Given the description of an element on the screen output the (x, y) to click on. 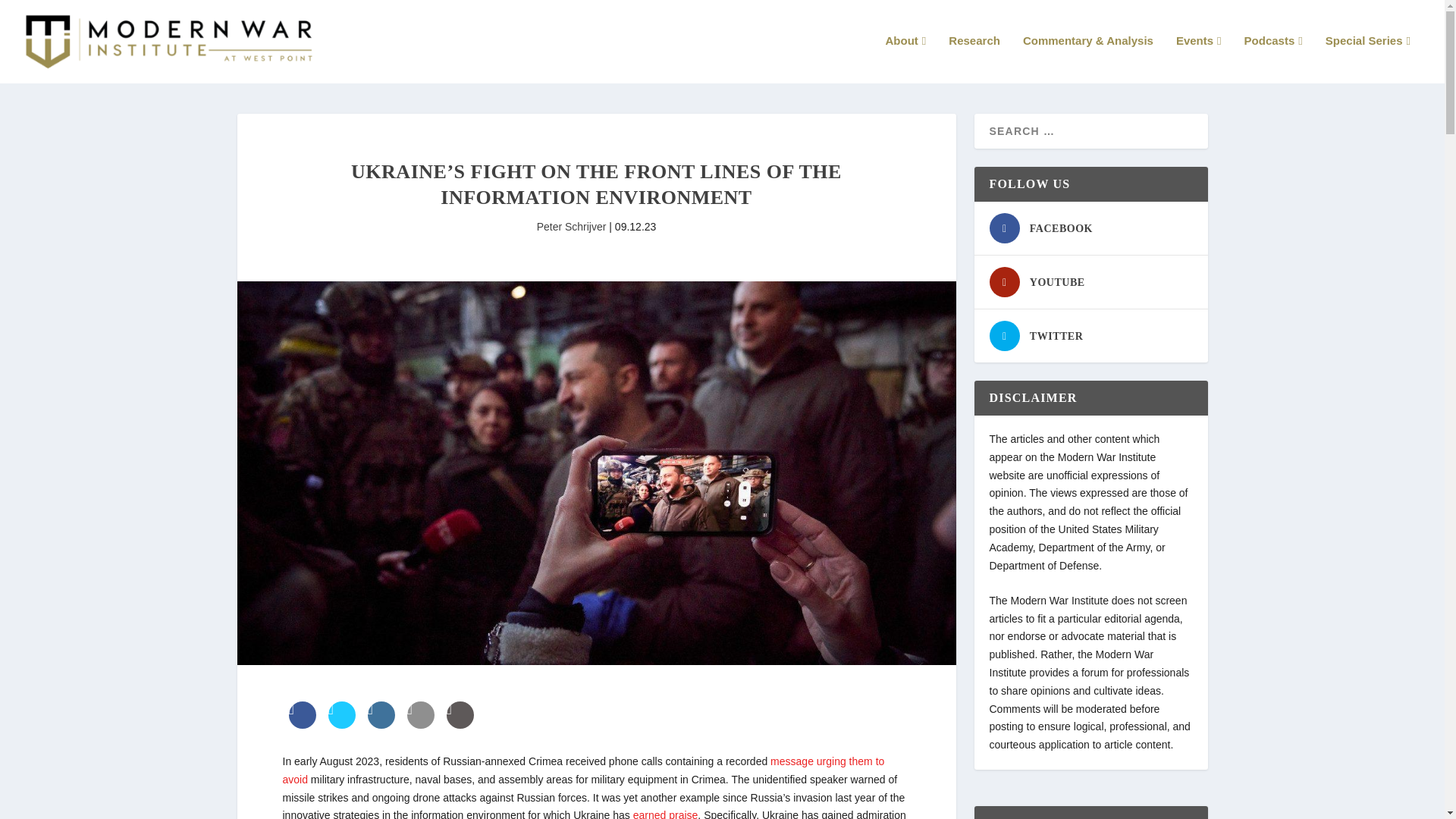
Podcasts (1273, 59)
Research (974, 59)
Special Series (1367, 59)
Posts by Peter Schrijver (572, 226)
Events (1198, 59)
